Given the description of an element on the screen output the (x, y) to click on. 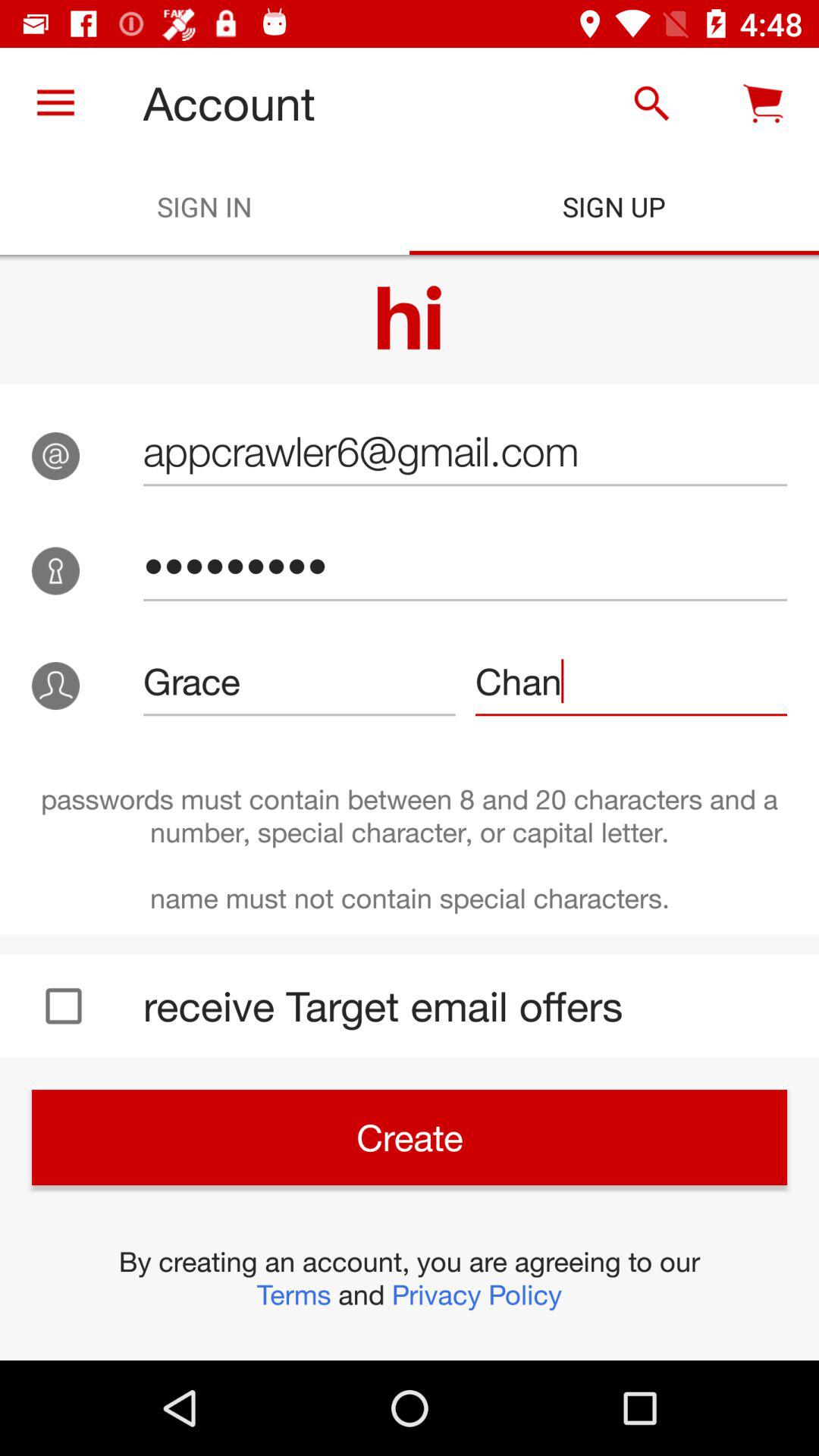
press the icon to the left of the chan item (299, 681)
